Given the description of an element on the screen output the (x, y) to click on. 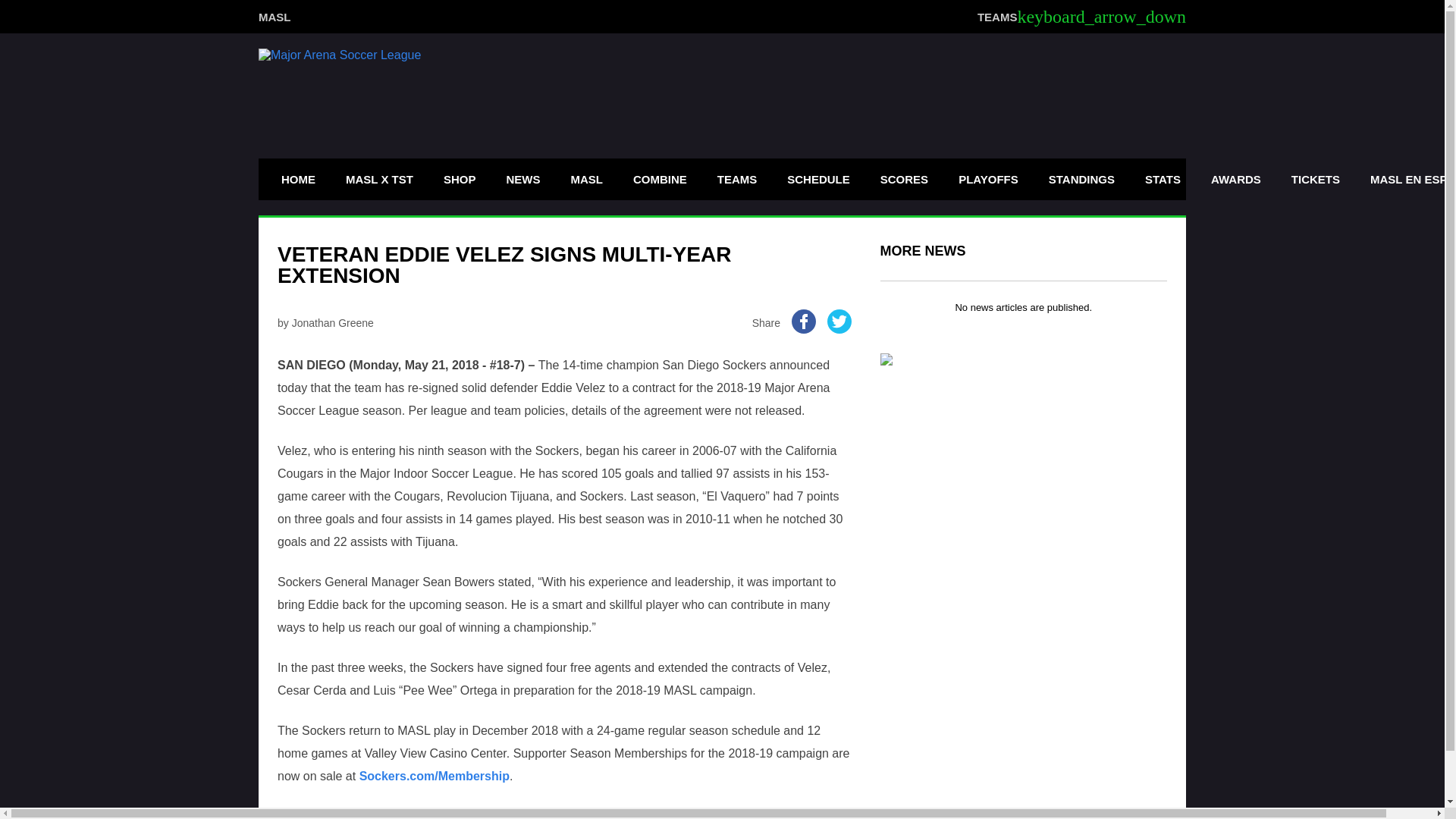
MASL (275, 16)
STANDINGS (1080, 178)
HOME (297, 178)
MASL X TST (379, 178)
SHOP (459, 178)
SCORES (904, 178)
COMBINE (659, 178)
PLAYOFFS (988, 178)
SCHEDULE (818, 178)
TEAMS (737, 178)
